Given the description of an element on the screen output the (x, y) to click on. 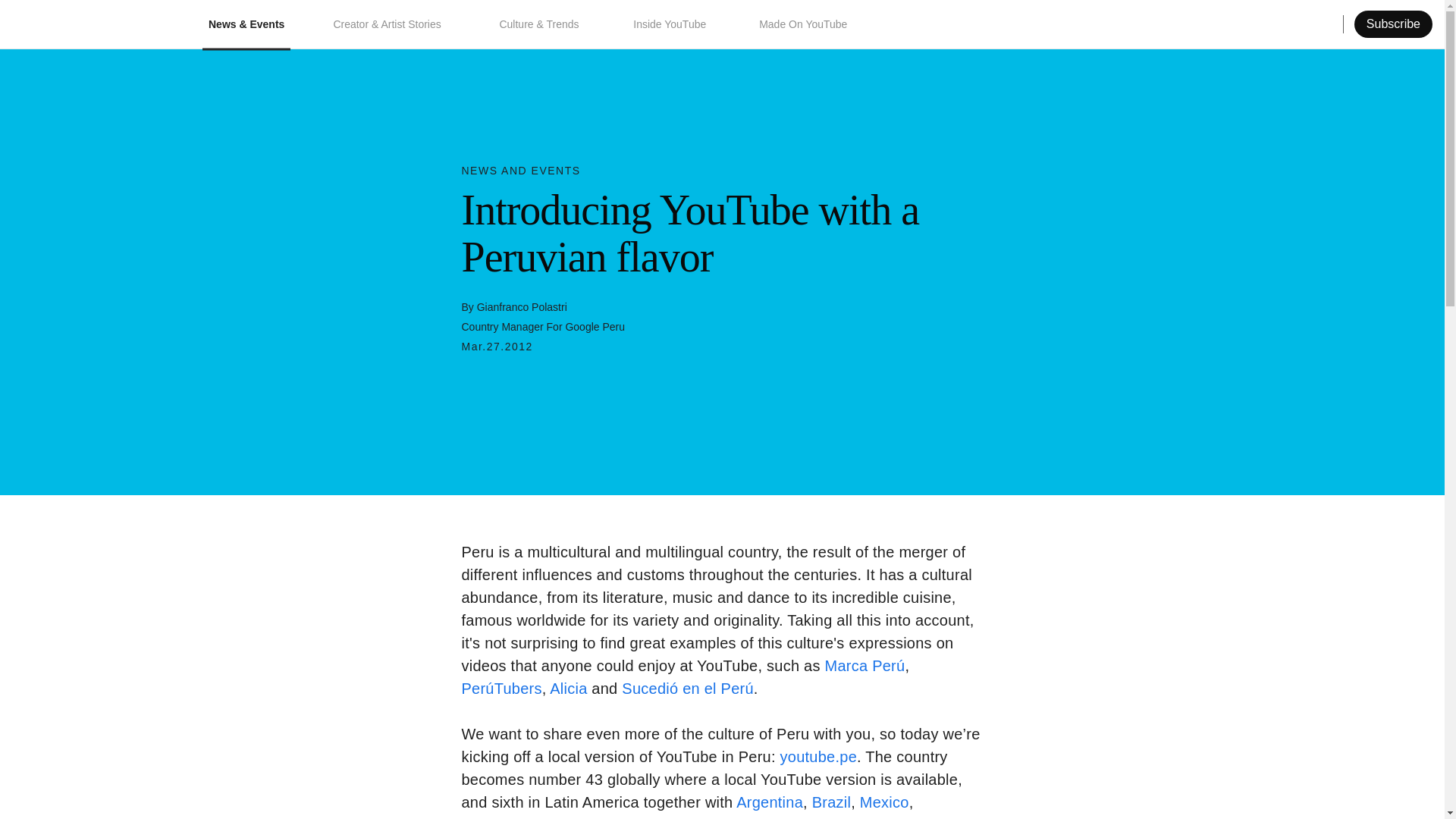
Chile (579, 817)
Copy link (1375, 24)
Made On YouTube (804, 24)
NEWS AND EVENTS (520, 170)
Argentina (769, 801)
YouTube Official Blog (90, 24)
Inside YouTube (671, 24)
Made On YouTube (804, 24)
Colombia (493, 817)
Copy link (1375, 24)
Brazil (831, 801)
Mexico (884, 801)
youtube.pe (818, 756)
Alicia (568, 688)
Subscribe (1393, 23)
